Given the description of an element on the screen output the (x, y) to click on. 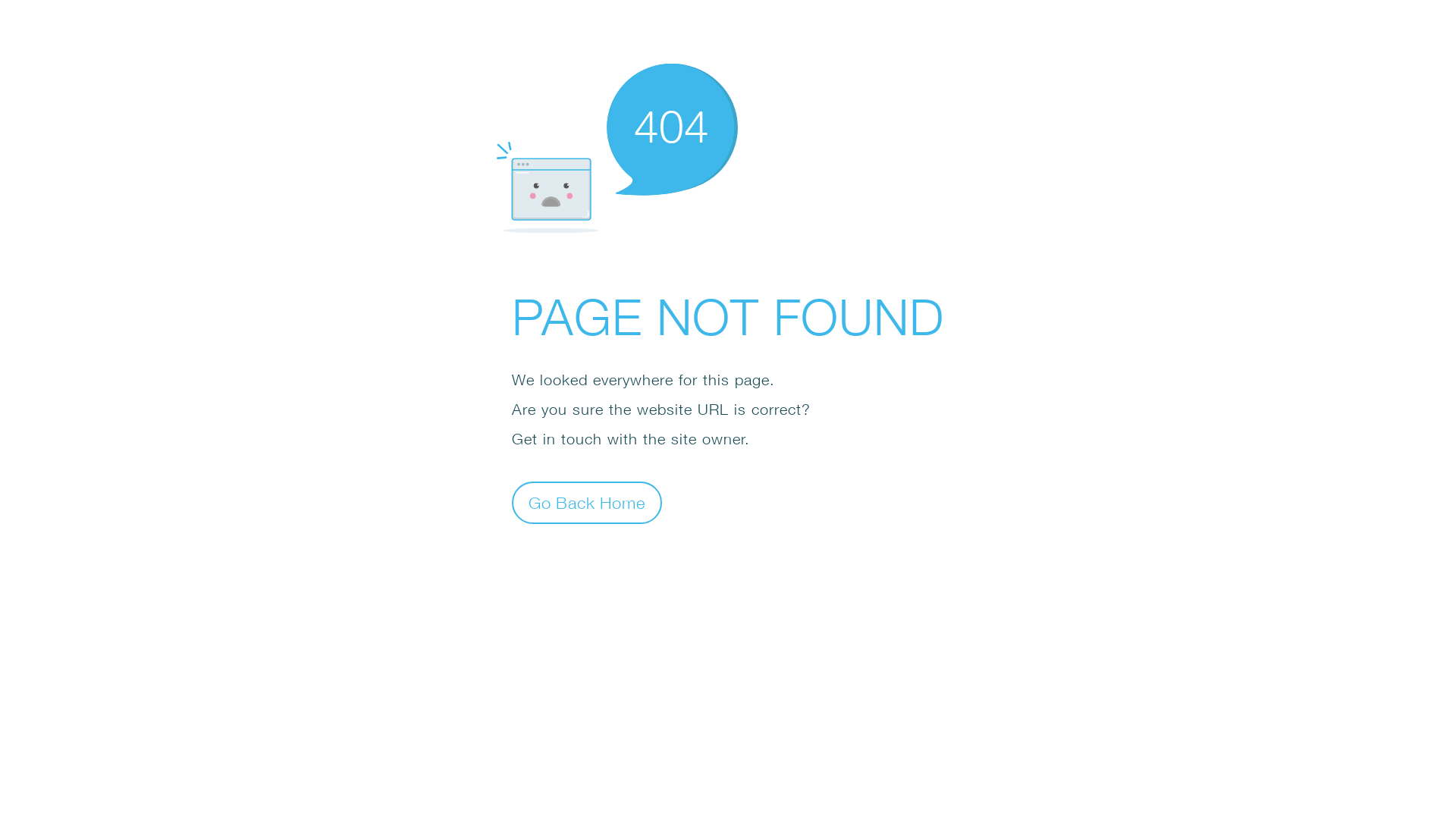
Go Back Home Element type: text (586, 502)
